Given the description of an element on the screen output the (x, y) to click on. 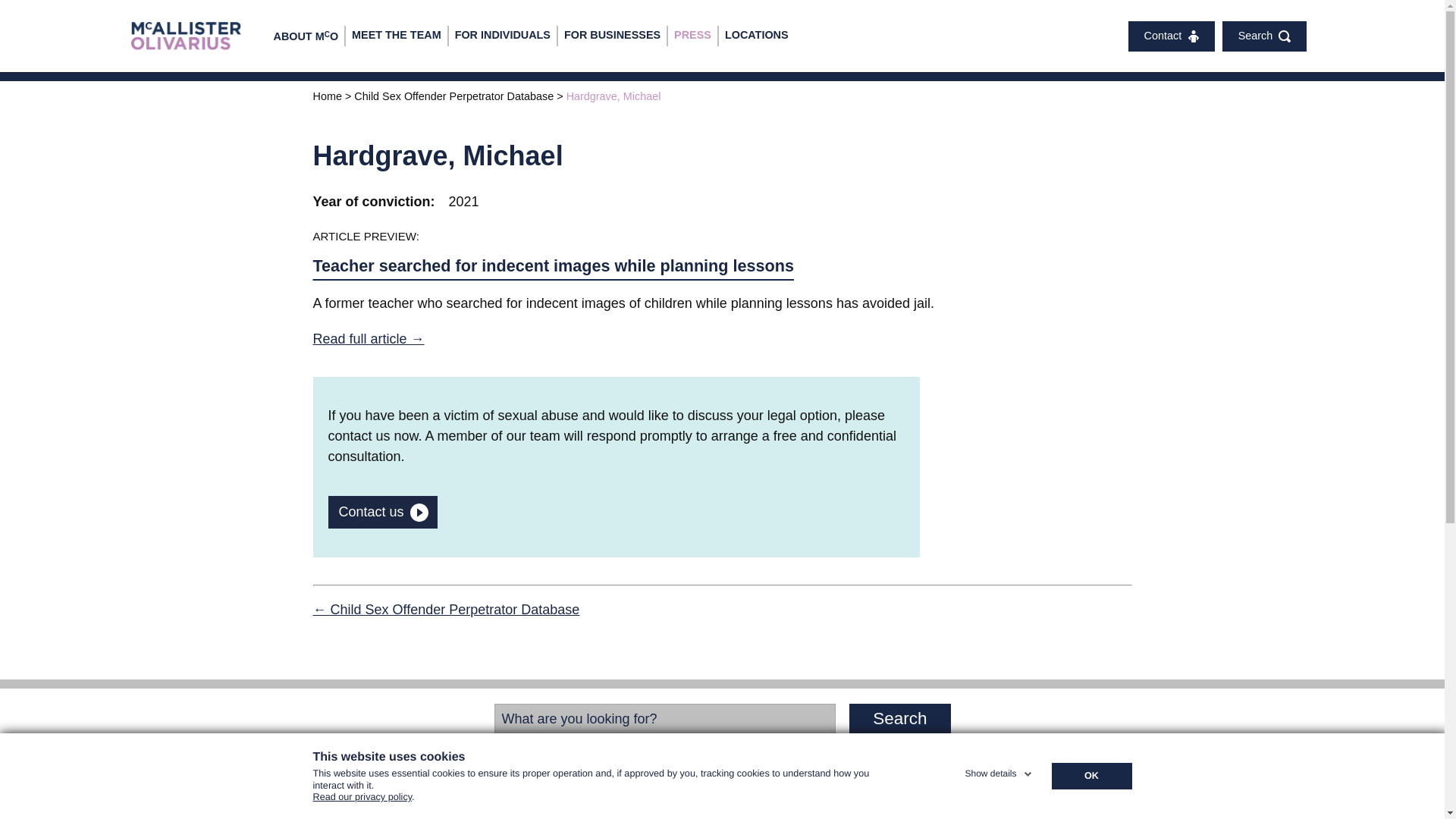
OK (1091, 776)
Read our privacy policy (362, 802)
Search (899, 718)
Show details (998, 770)
